Given the description of an element on the screen output the (x, y) to click on. 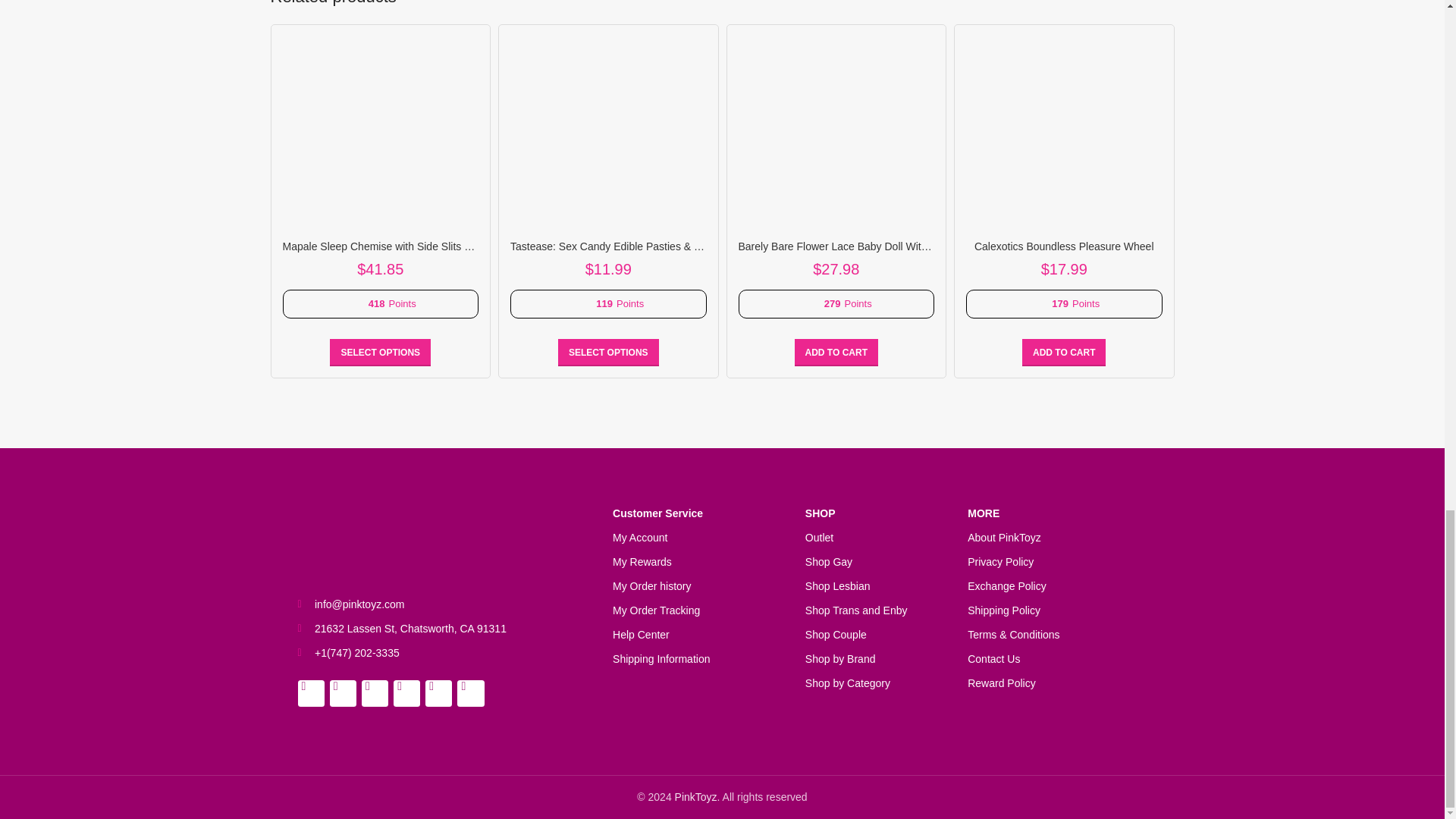
PinkToyz-Logo (385, 539)
